Given the description of an element on the screen output the (x, y) to click on. 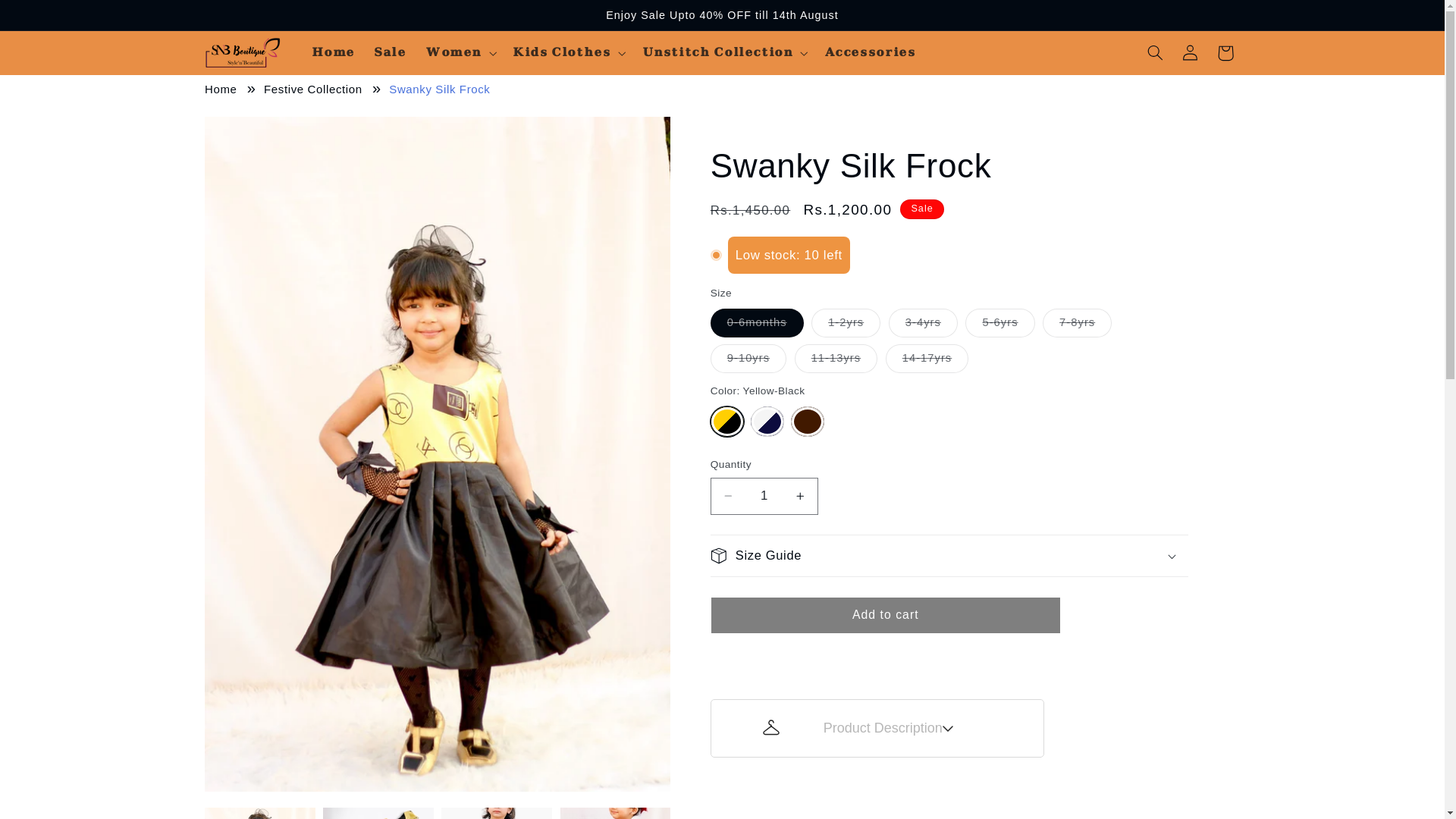
Log in (1190, 53)
Home (221, 88)
Cart (1225, 53)
